Given the description of an element on the screen output the (x, y) to click on. 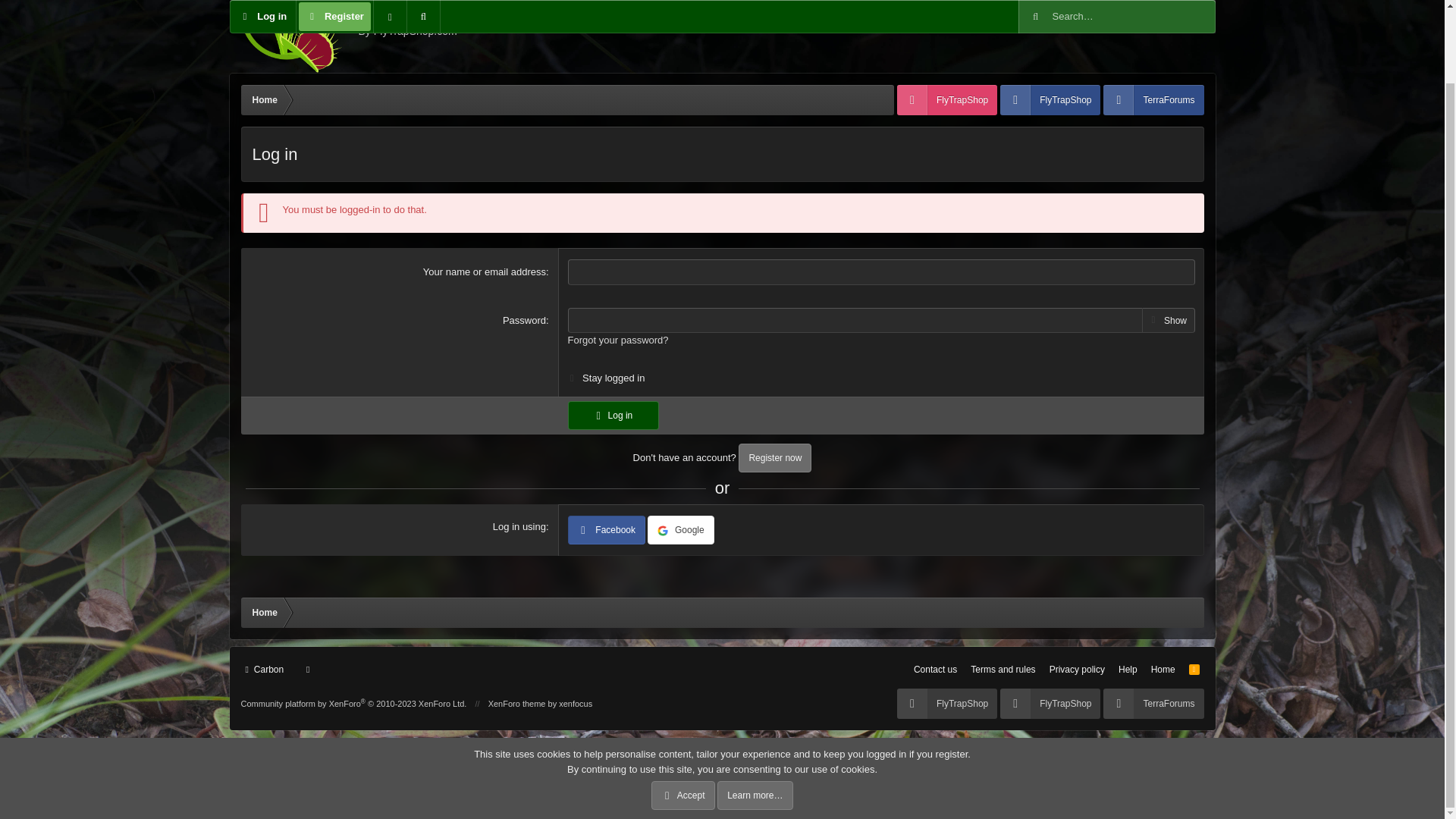
1 (571, 374)
Home (264, 612)
Google (680, 529)
Log in (1130, 33)
FlyTrapShop (1130, 16)
FlyTrapShop (437, 36)
FORUMS (613, 415)
Carbon (946, 100)
Privacy policy (1050, 100)
Facebook (1161, 16)
1 (264, 669)
Register now (1077, 669)
